Given the description of an element on the screen output the (x, y) to click on. 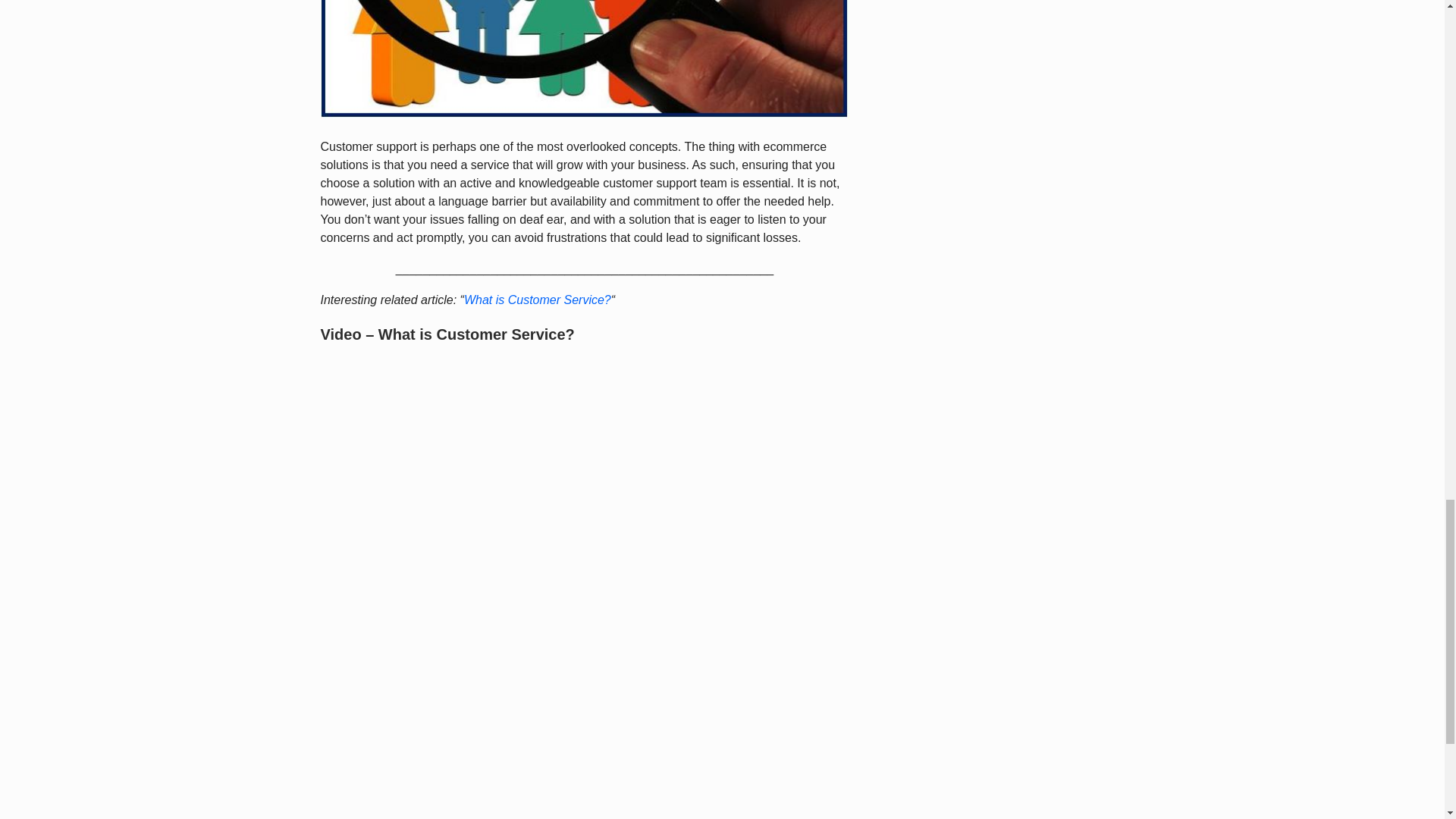
What is Customer Service? (537, 299)
